Given the description of an element on the screen output the (x, y) to click on. 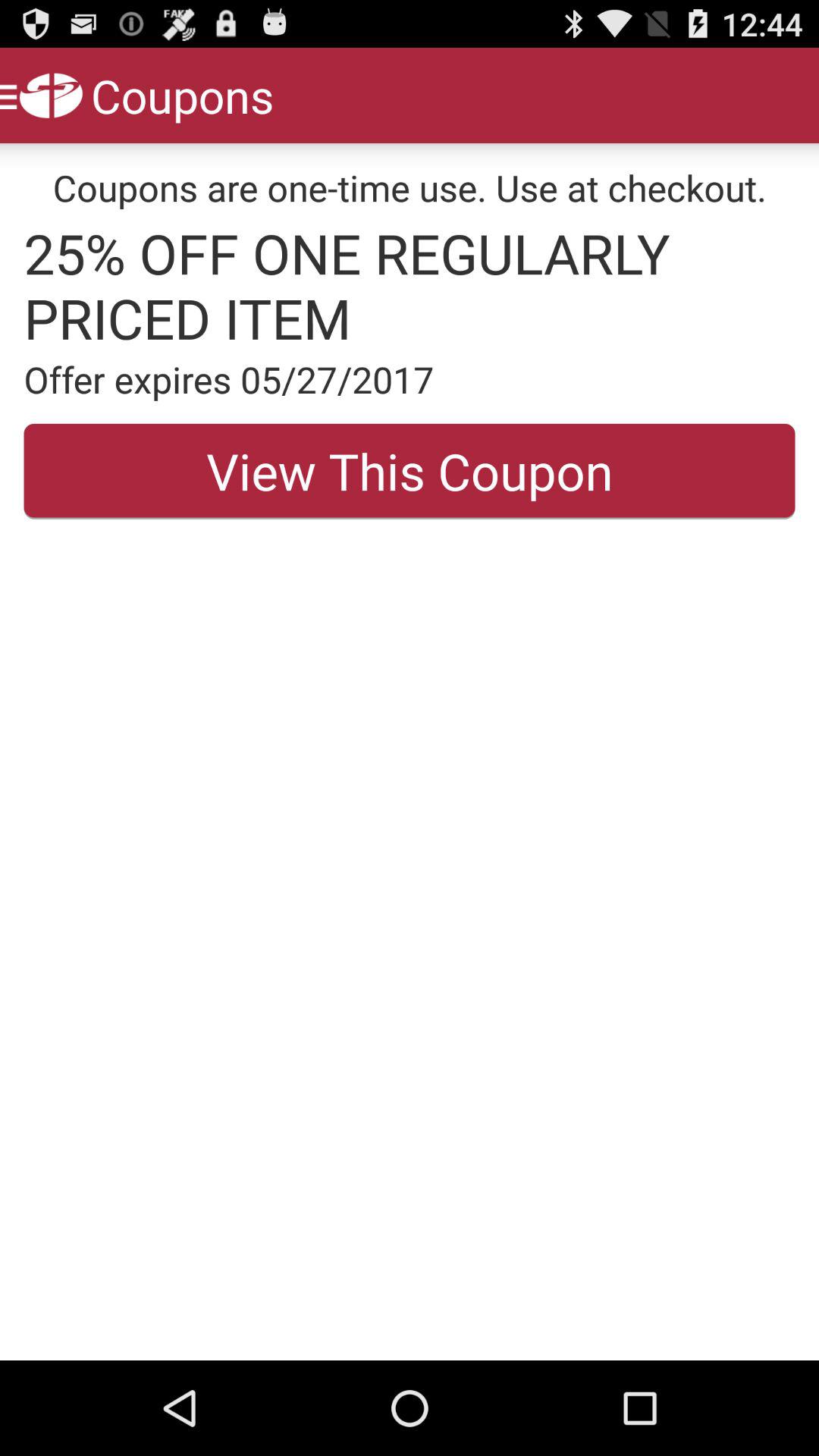
swipe to offer expires 05 item (409, 378)
